Given the description of an element on the screen output the (x, y) to click on. 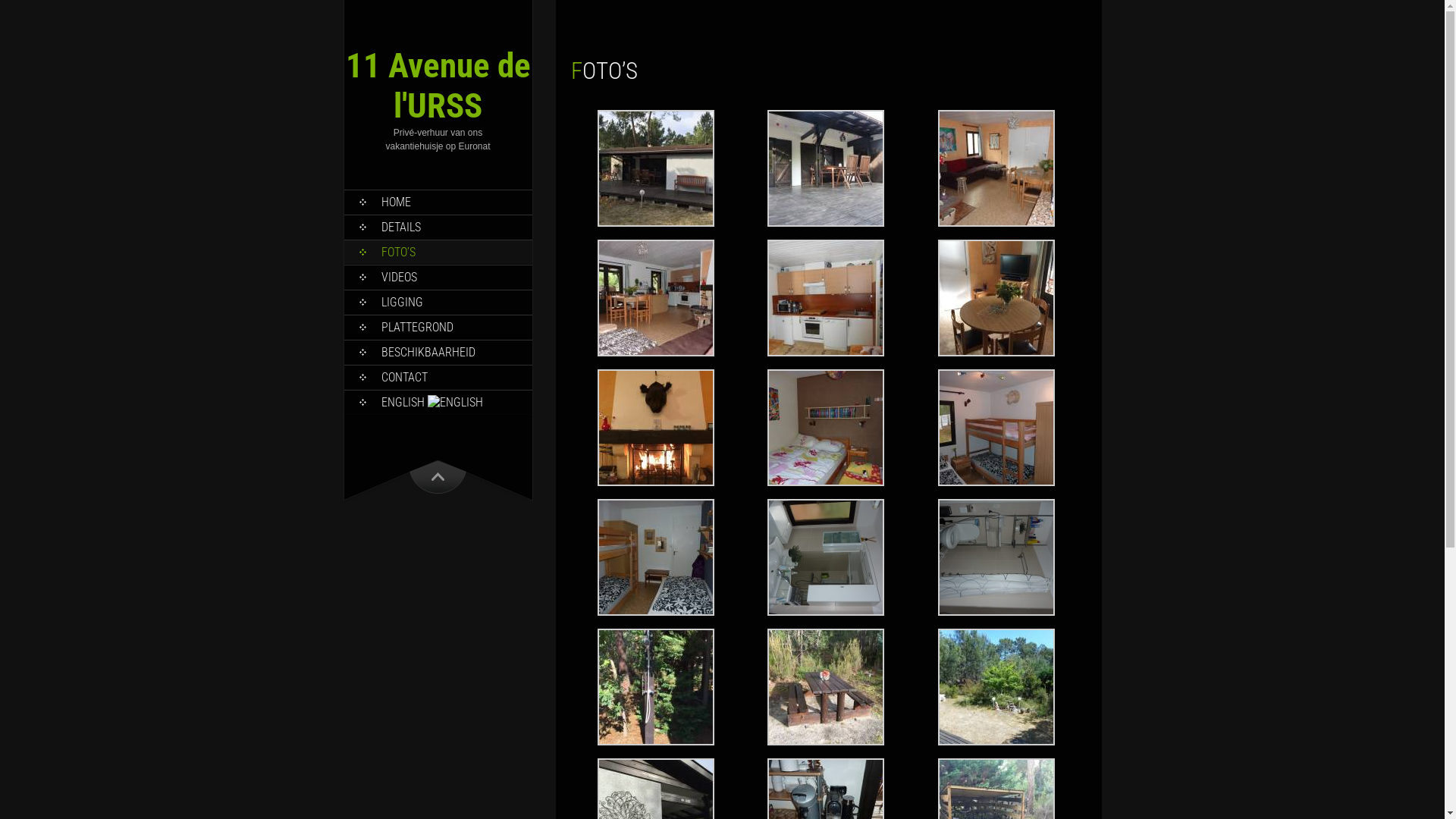
11 Avenue de l'URSS Element type: text (437, 85)
LIGGING Element type: text (438, 301)
BESCHIKBAARHEID Element type: text (438, 352)
PLATTEGROND Element type: text (438, 326)
HOME Element type: text (438, 201)
DETAILS Element type: text (438, 226)
CONTACT Element type: text (438, 377)
VIDEOS Element type: text (438, 276)
ENGLISH  Element type: text (438, 402)
